Given the description of an element on the screen output the (x, y) to click on. 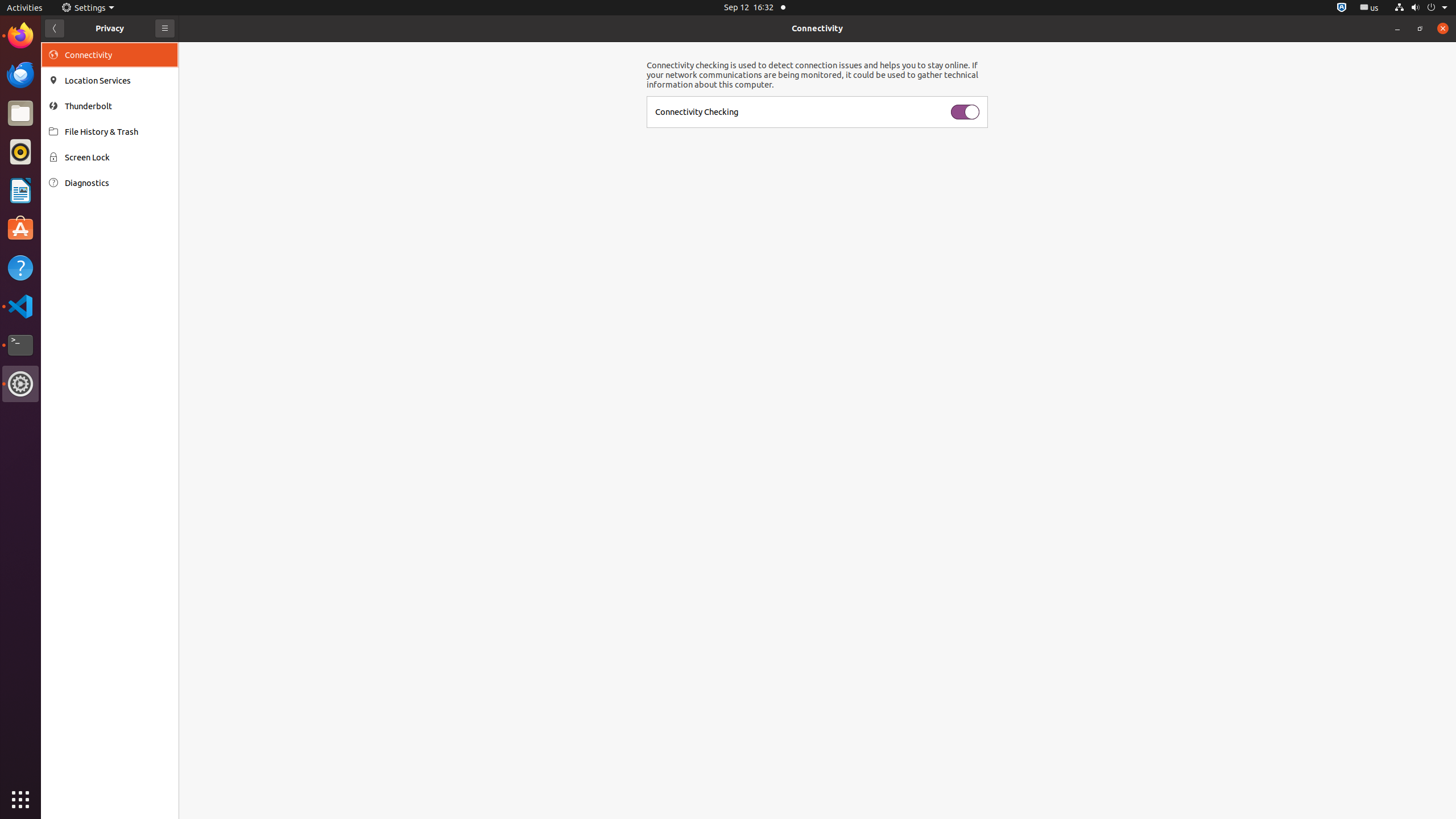
Thunderbolt Element type: label (117, 105)
Connectivity Checking Element type: label (696, 111)
IsaHelpMain.desktop Element type: label (75, 170)
